Given the description of an element on the screen output the (x, y) to click on. 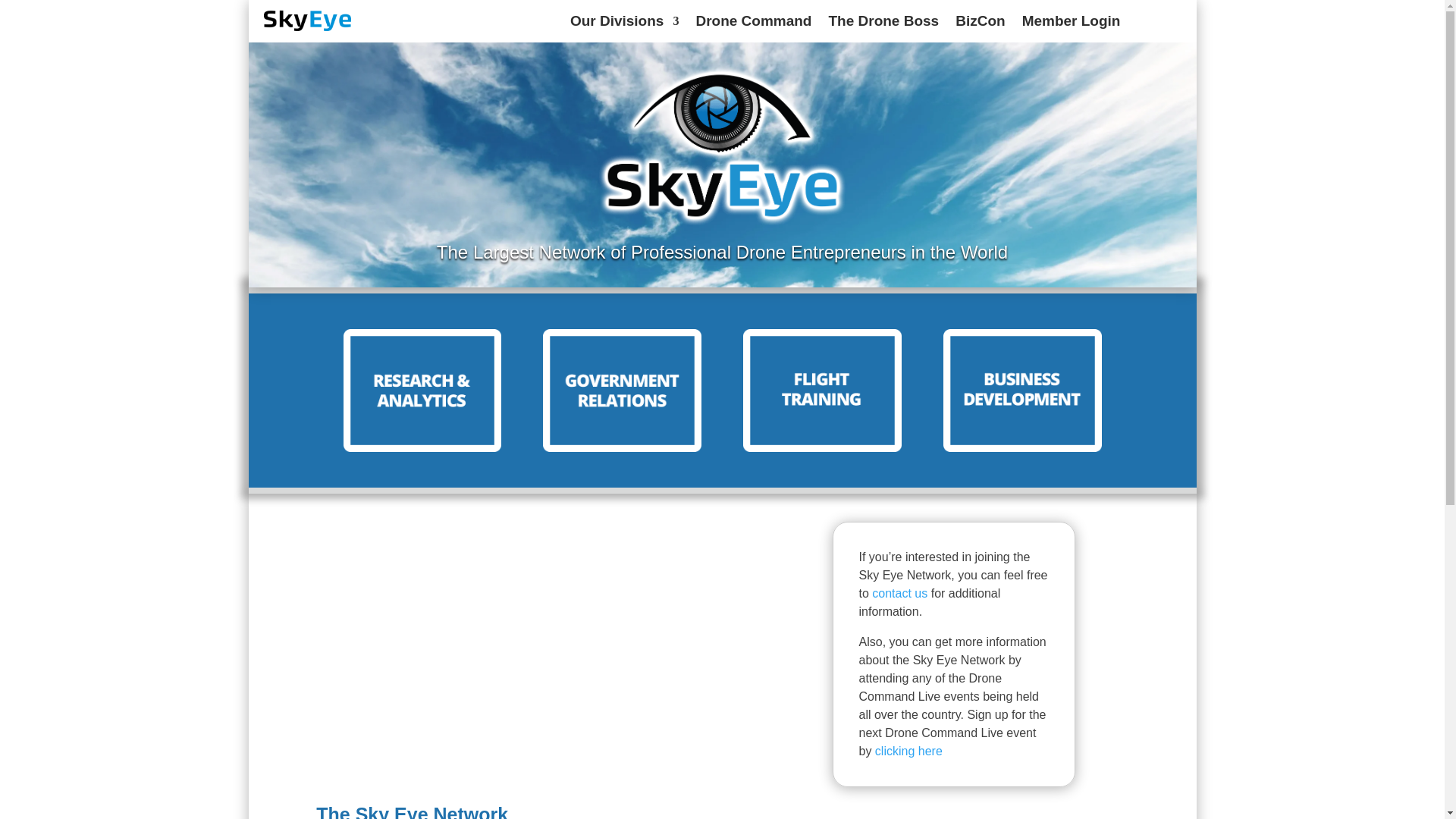
The Drone Boss (883, 23)
stacks-image-7d845f6 (622, 390)
favicon (307, 20)
BizCon (979, 23)
Sky Eye About Video (547, 656)
Our Divisions (624, 23)
Drone Command (752, 23)
stacks-image-14121a9 (821, 390)
stacks-image-f285c99 (421, 390)
Member Login (1071, 23)
Contact (899, 593)
stacks-image-b6f7b7c (1022, 390)
